Given the description of an element on the screen output the (x, y) to click on. 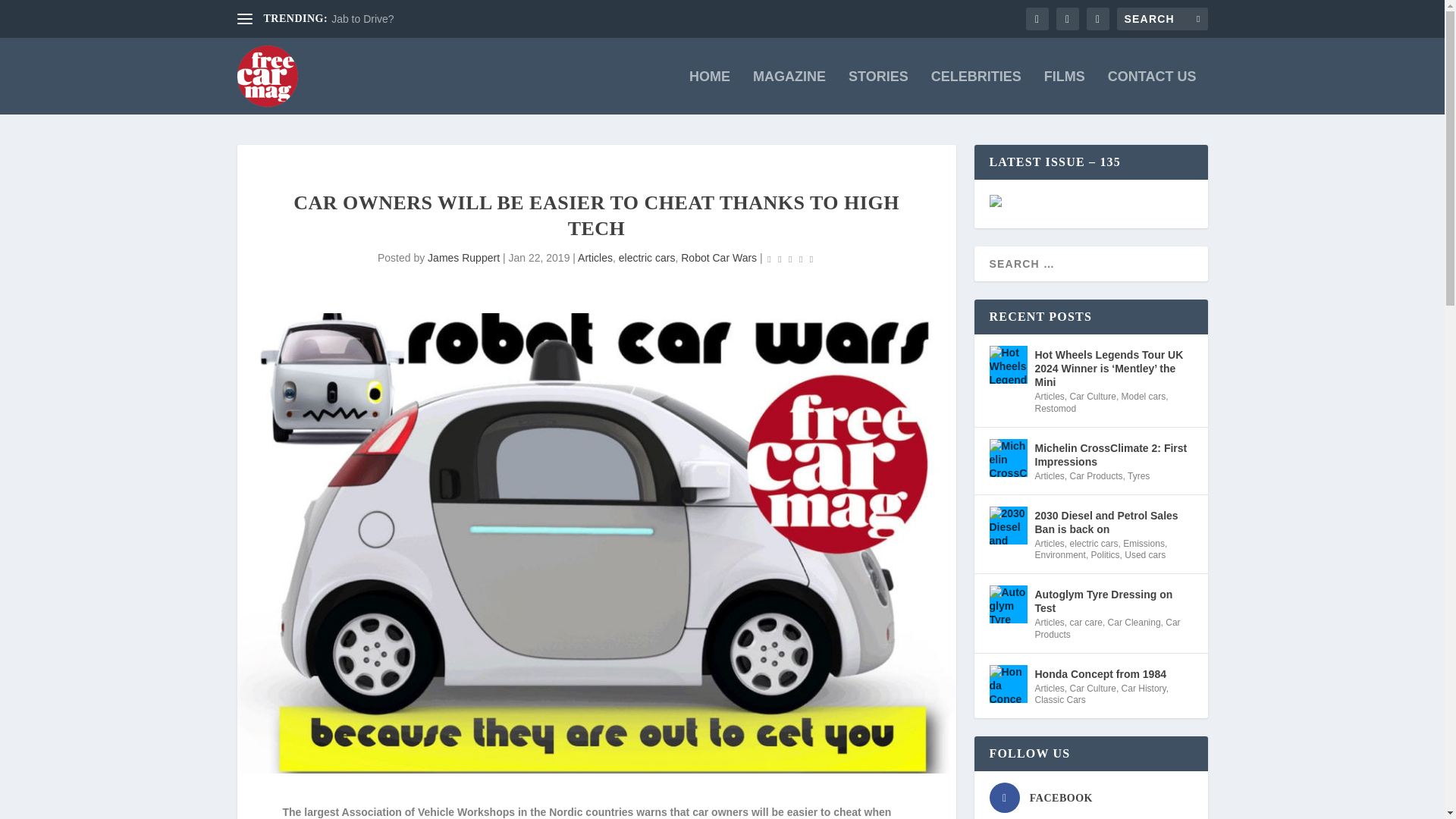
Posts by James Ruppert (463, 257)
STORIES (878, 92)
FILMS (1063, 92)
CELEBRITIES (976, 92)
electric cars (646, 257)
Robot Car Wars (719, 257)
HOME (709, 92)
James Ruppert (463, 257)
Articles (595, 257)
Search for: (1161, 18)
